Given the description of an element on the screen output the (x, y) to click on. 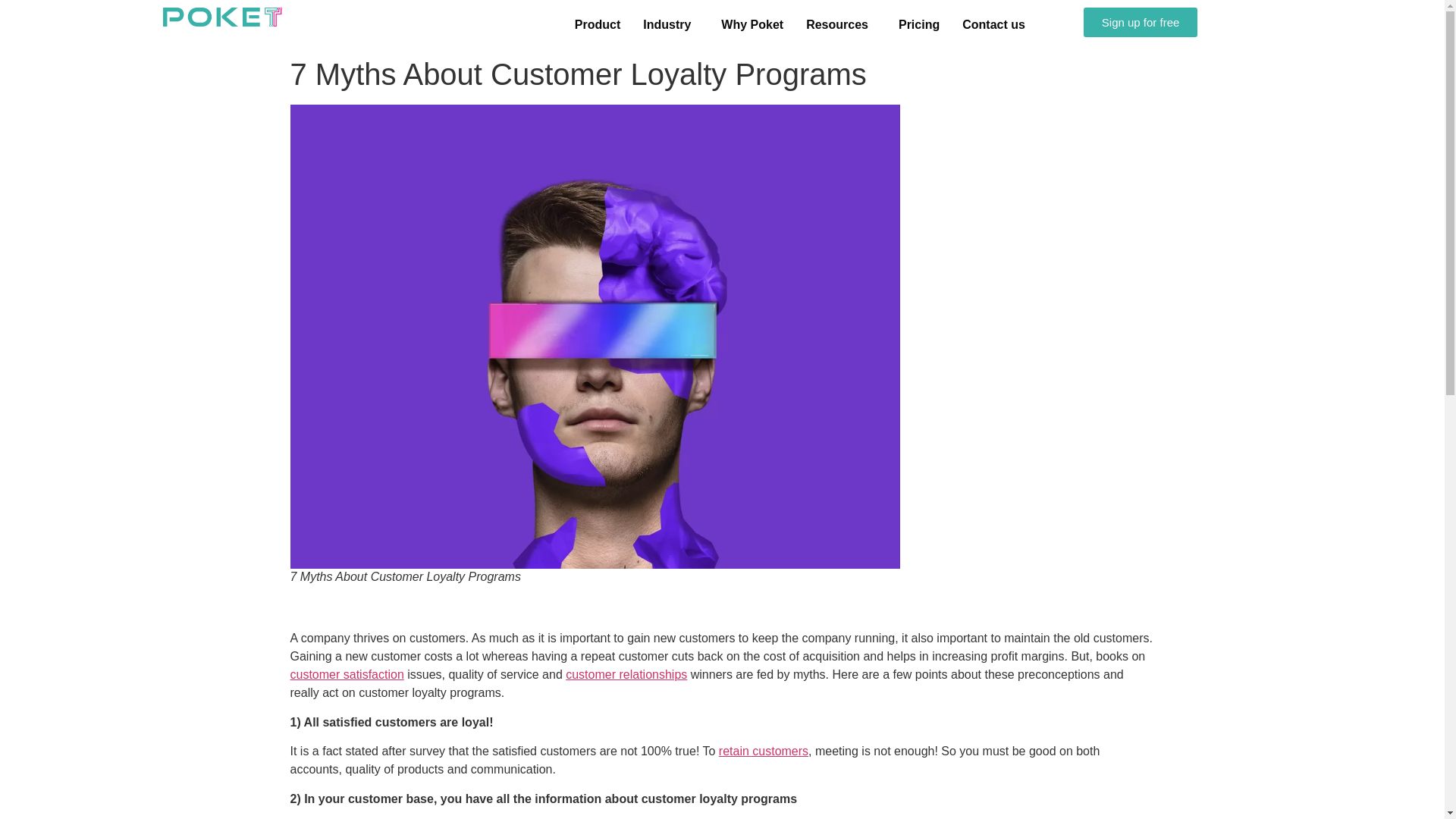
Sign up for free (1140, 21)
Pricing (918, 24)
retain customers (763, 750)
customer relationships (626, 674)
Resources (840, 24)
Contact us (993, 24)
Why Poket (752, 24)
Product (597, 24)
Industry (670, 24)
customer satisfaction (346, 674)
